Given the description of an element on the screen output the (x, y) to click on. 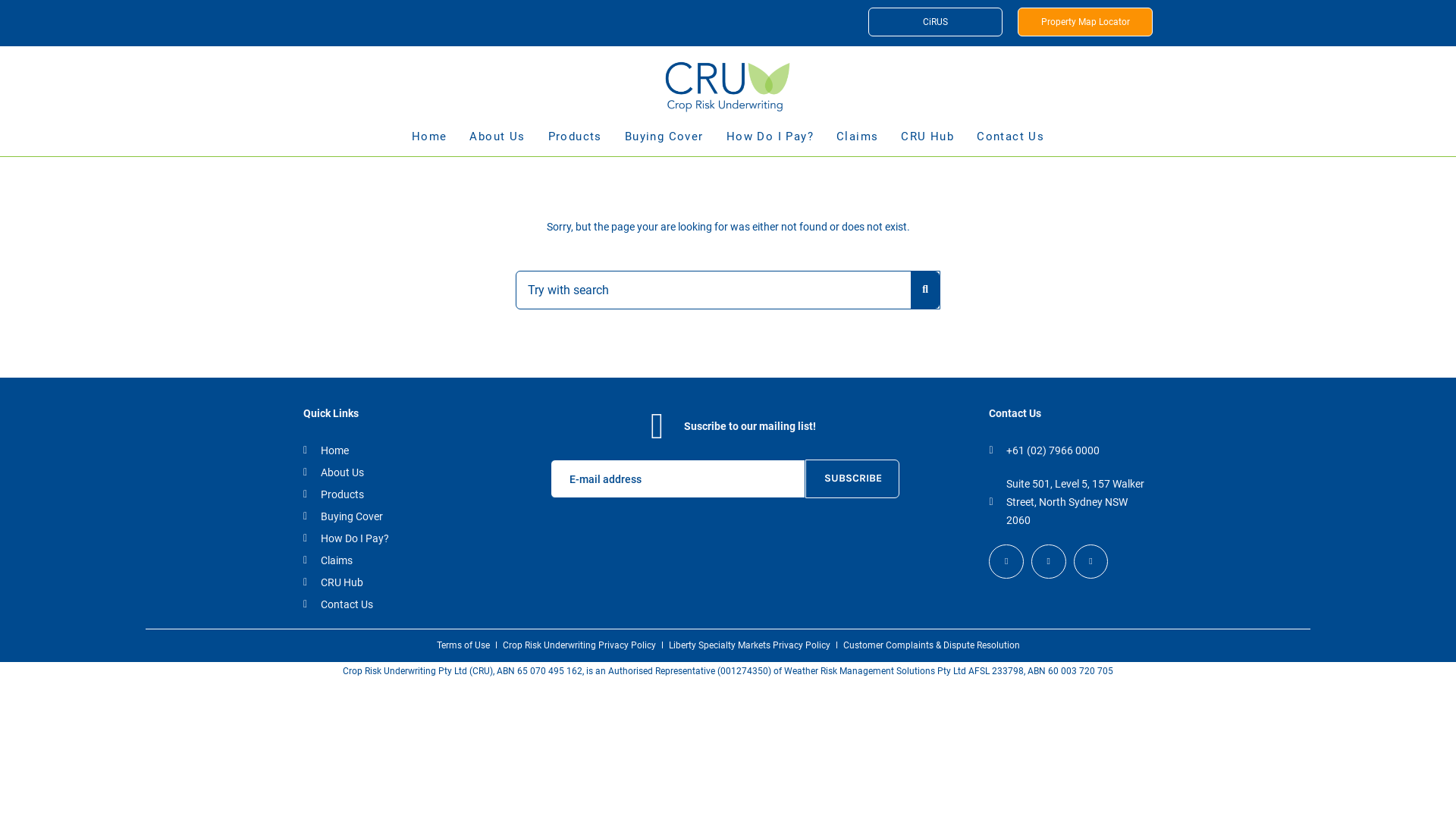
Contact Us Element type: text (382, 604)
Products Element type: text (575, 142)
Home Element type: text (429, 142)
How Do I Pay? Element type: text (769, 142)
Crop Risk Underwriting Privacy Policy Element type: text (578, 645)
Home Element type: text (382, 450)
CiRUS Element type: text (935, 21)
Claims Element type: text (857, 142)
Buying Cover Element type: text (382, 516)
Customer Complaints & Dispute Resolution Element type: text (931, 645)
+61 (02) 7966 0000 Element type: text (1067, 450)
Property Map Locator Element type: text (1084, 21)
CRU Hub Element type: text (382, 582)
How Do I Pay? Element type: text (382, 538)
Claims Element type: text (382, 560)
Terms of Use Element type: text (462, 645)
Contact Us Element type: text (1010, 142)
Liberty Specialty Markets Privacy Policy Element type: text (749, 645)
About Us Element type: text (382, 472)
Products Element type: text (382, 494)
About Us Element type: text (496, 142)
Buying Cover Element type: text (663, 142)
Suite 501, Level 5, 157 Walker Street, North Sydney NSW 2060 Element type: text (1067, 501)
SUBSCRIBE Element type: text (852, 478)
CRU Hub Element type: text (926, 142)
